Given the description of an element on the screen output the (x, y) to click on. 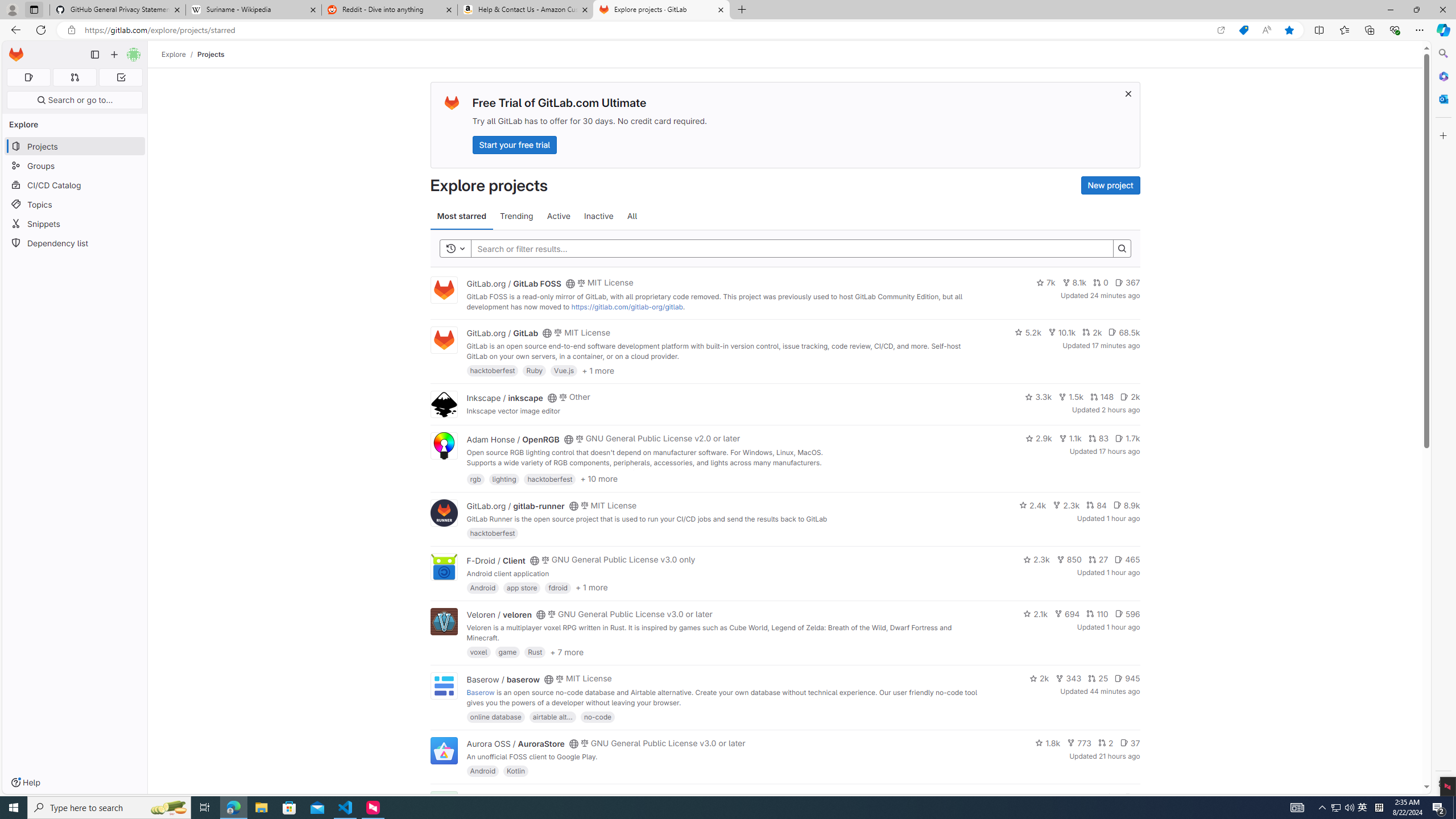
Help (25, 782)
GitLab.org / GitLab (501, 333)
Class: s14 gl-mr-2 (1128, 796)
Rust (535, 651)
Groups (74, 165)
0 (1100, 282)
8.9k (1126, 504)
2.3k (1035, 559)
Address and search bar (647, 29)
https://openrgb.org (563, 472)
Skip to main content (13, 49)
850 (1068, 559)
148 (1101, 396)
